Given the description of an element on the screen output the (x, y) to click on. 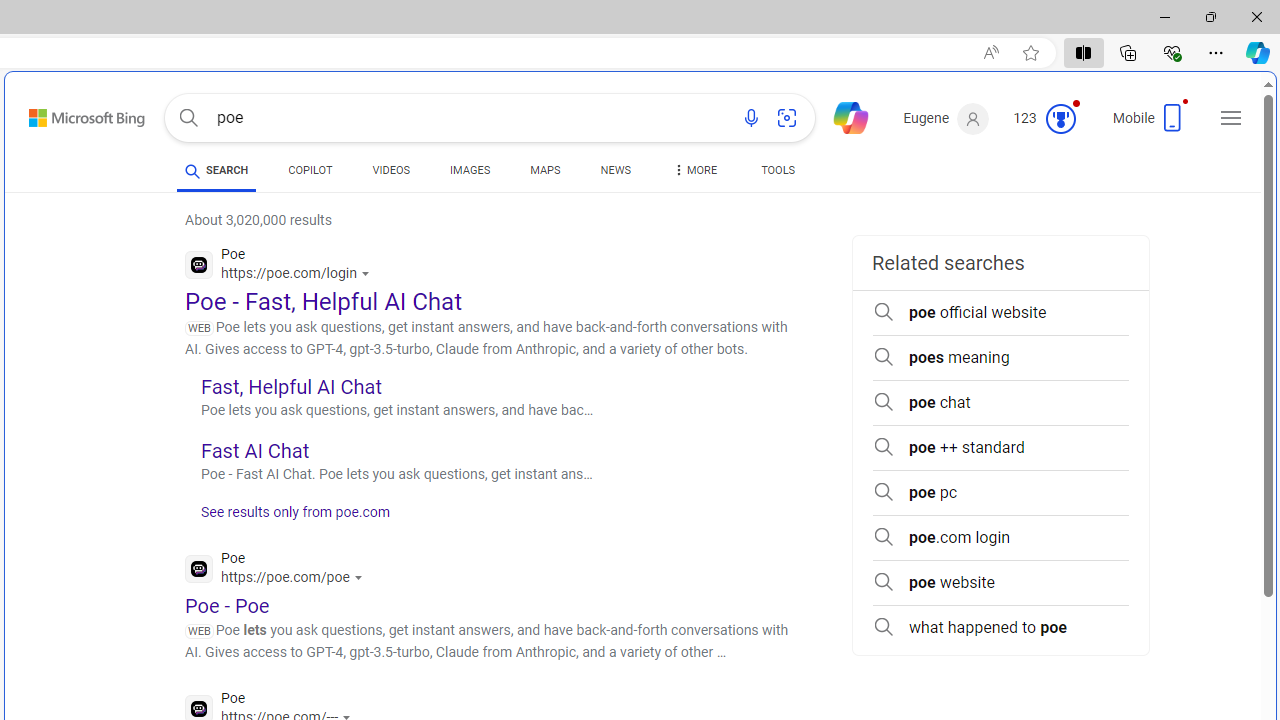
Search button (188, 117)
